Given the description of an element on the screen output the (x, y) to click on. 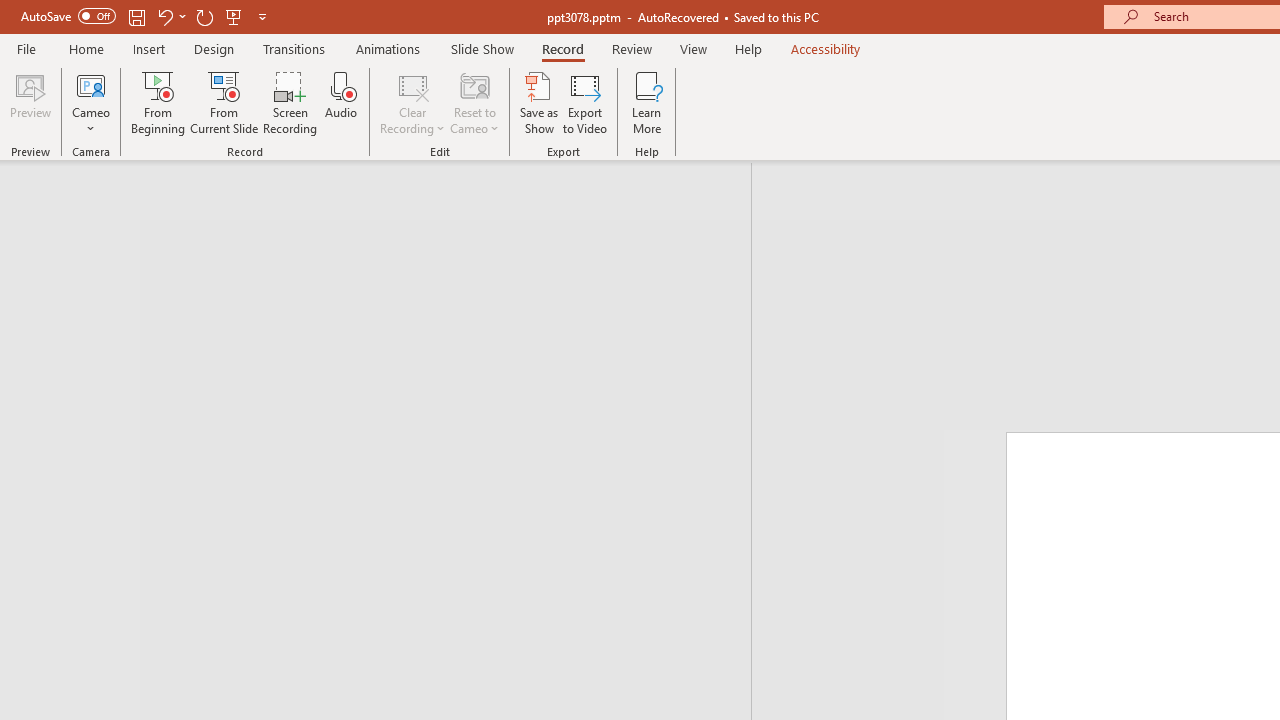
Review (631, 48)
Accessibility (825, 48)
Undo (170, 15)
From Beginning (234, 15)
Preview (30, 102)
Slide Show (481, 48)
View (693, 48)
